Given the description of an element on the screen output the (x, y) to click on. 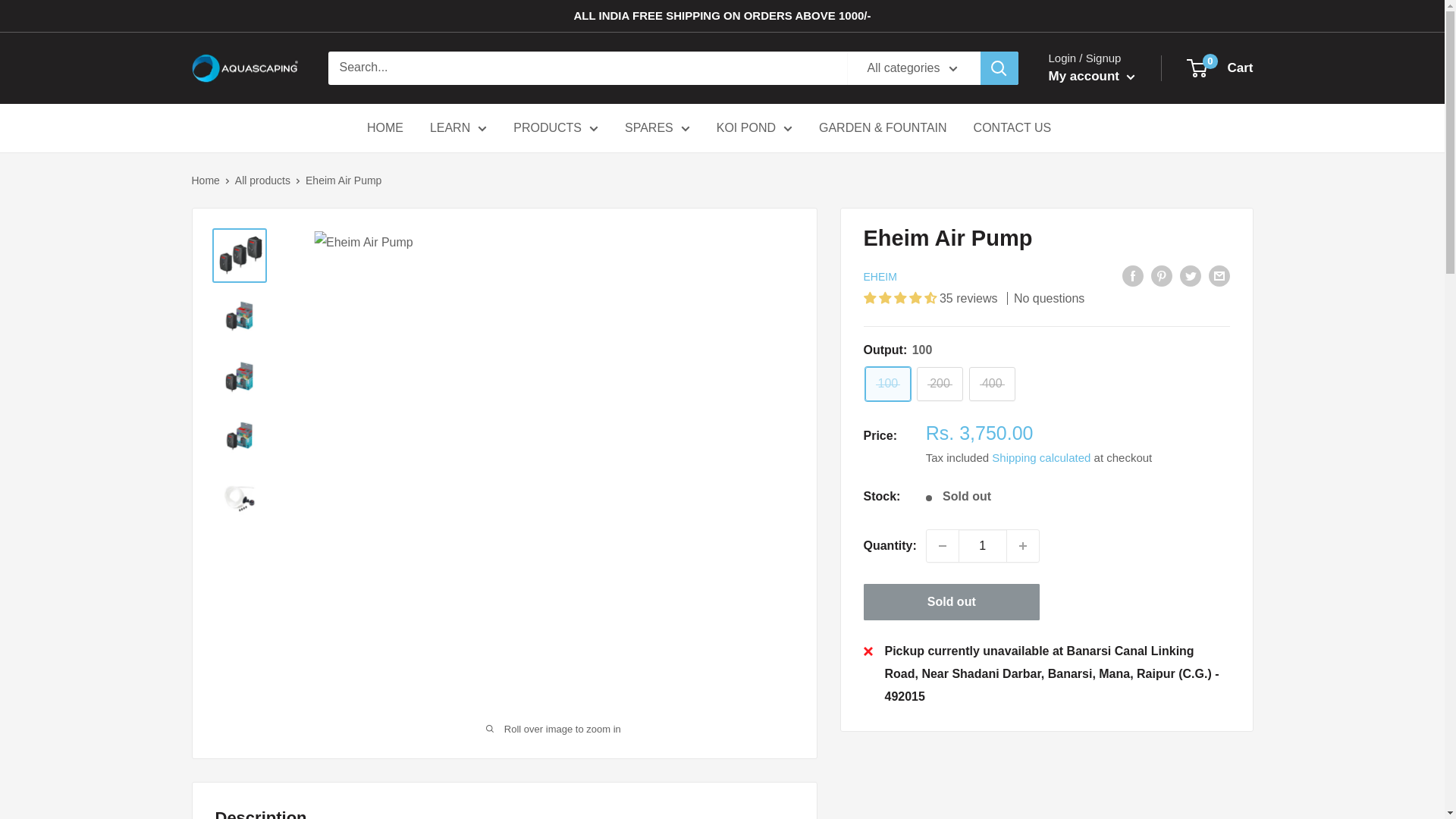
100 (887, 383)
Decrease quantity by 1 (942, 545)
1 (982, 545)
400 (991, 383)
Increase quantity by 1 (1023, 545)
200 (939, 383)
